Given the description of an element on the screen output the (x, y) to click on. 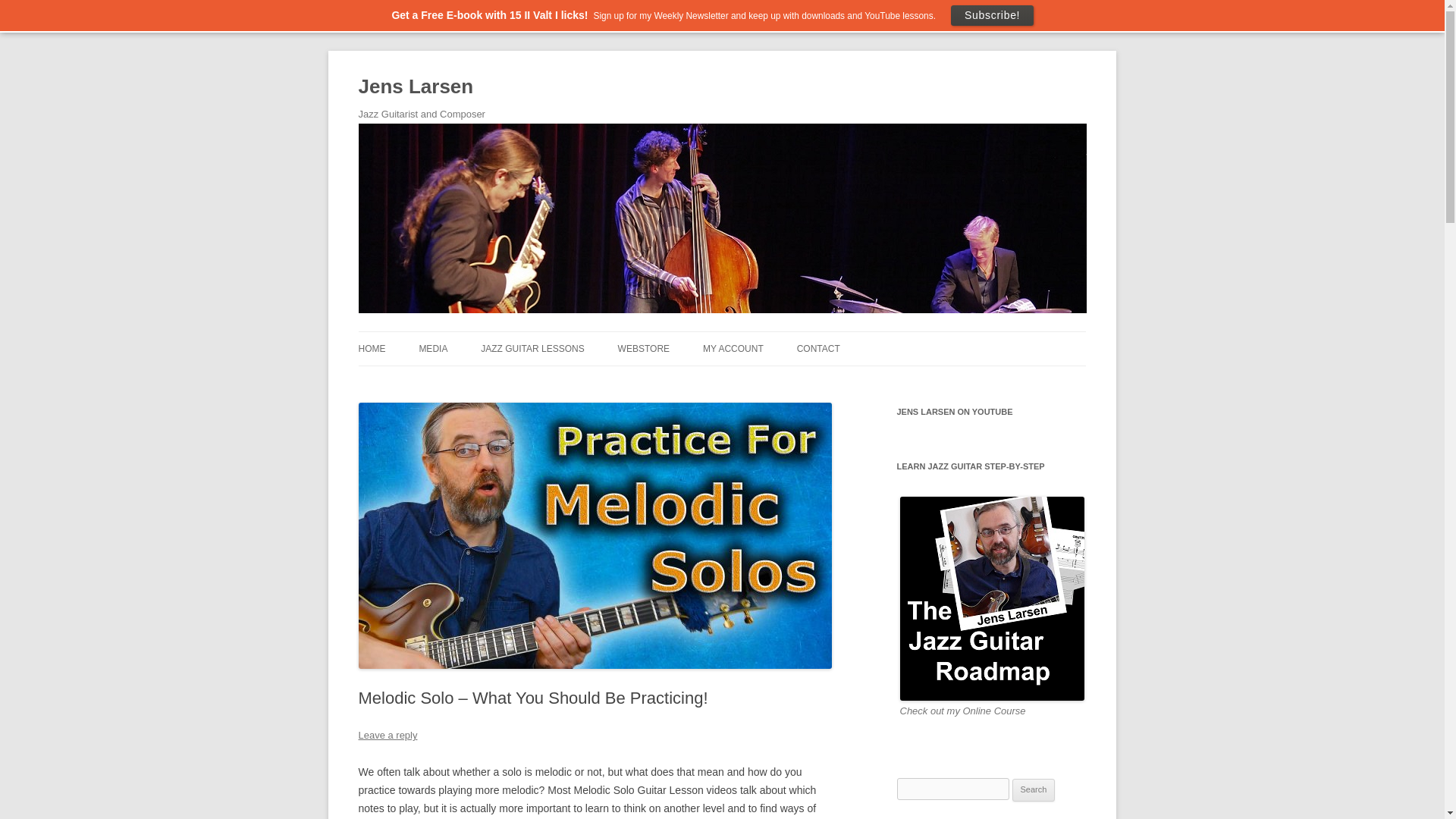
Jens Larsen (415, 86)
HOME (371, 348)
WEBSTORE (643, 348)
ONLINE LESSONS (555, 380)
Leave a reply (387, 735)
MY ACCOUNT (732, 348)
Search (1033, 789)
MEDIA (432, 348)
CART (778, 380)
CONTACT (818, 348)
Jens Larsen (415, 86)
JAZZ GUITAR LESSONS (531, 348)
